Given the description of an element on the screen output the (x, y) to click on. 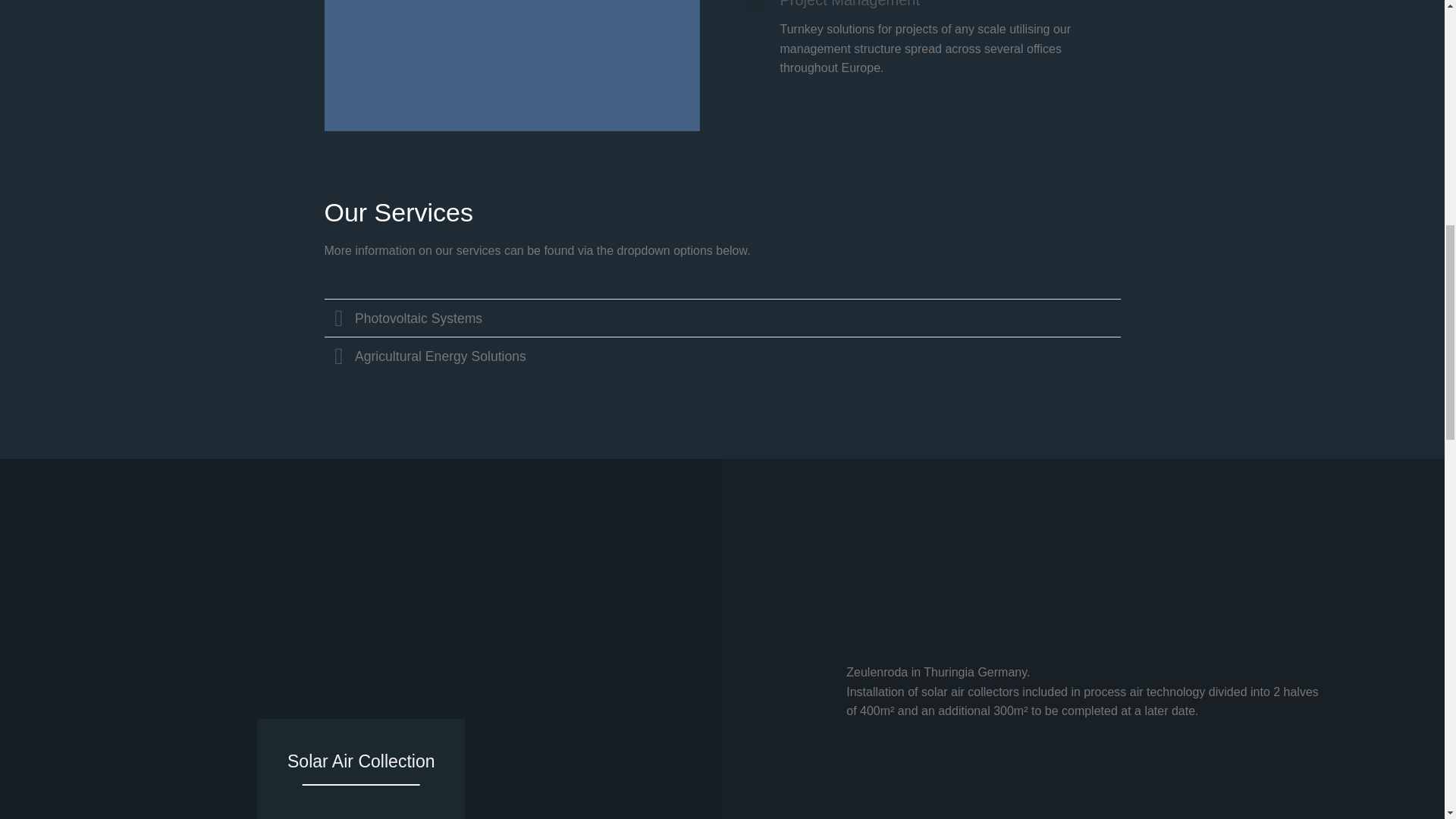
Agricultural Energy Solutions (722, 355)
Photovoltaic Systems (722, 317)
